Given the description of an element on the screen output the (x, y) to click on. 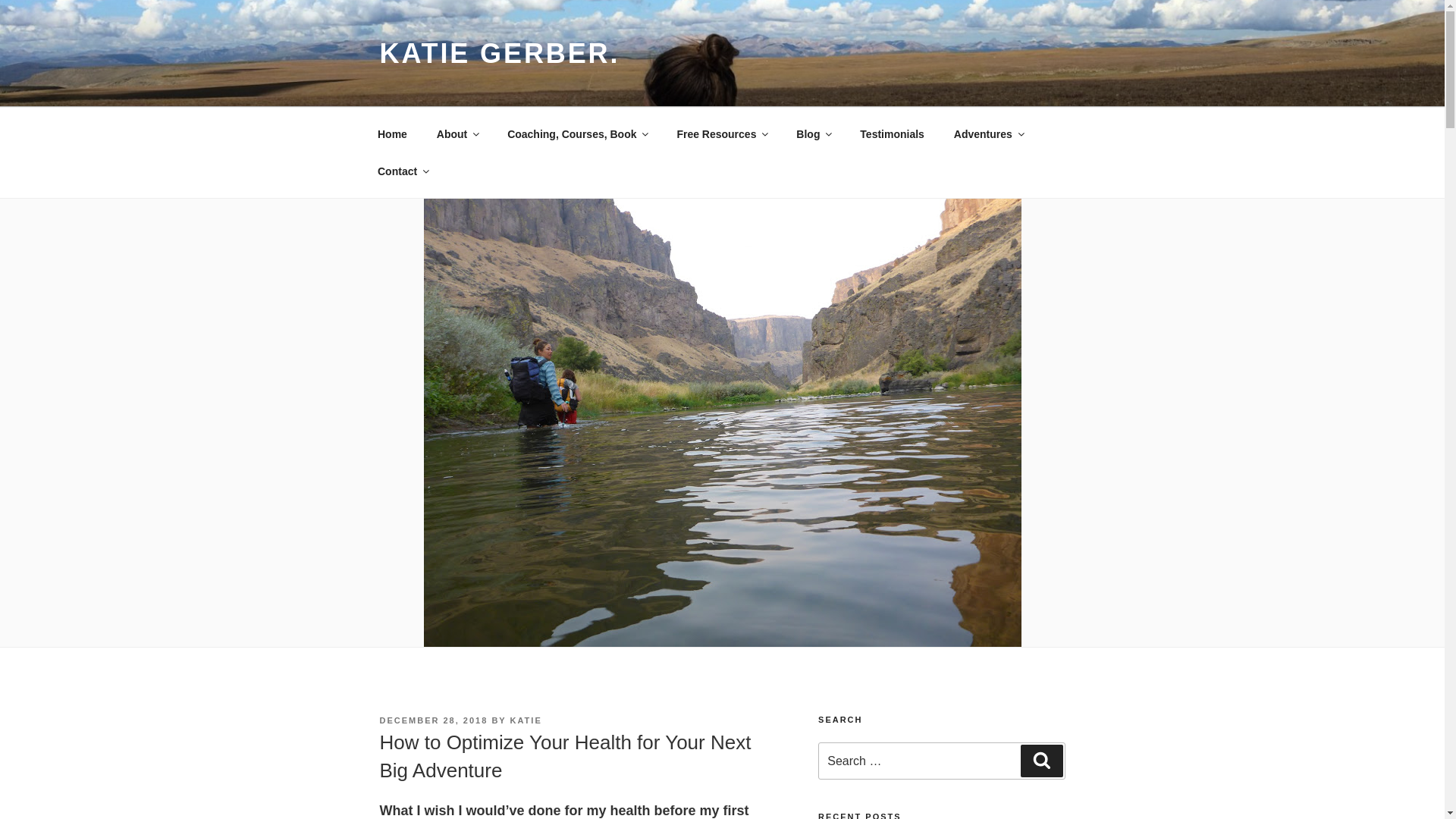
Home (392, 133)
Testimonials (892, 133)
Blog (813, 133)
Coaching, Courses, Book (578, 133)
KATIE GERBER. (499, 52)
Adventures (987, 133)
Free Resources (721, 133)
About (456, 133)
Contact (402, 171)
